Given the description of an element on the screen output the (x, y) to click on. 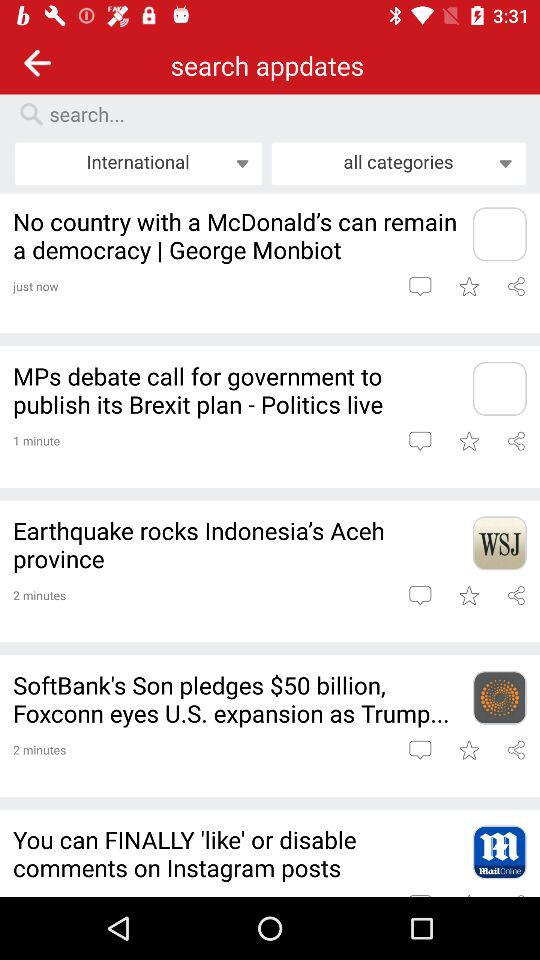
share the article (515, 749)
